Given the description of an element on the screen output the (x, y) to click on. 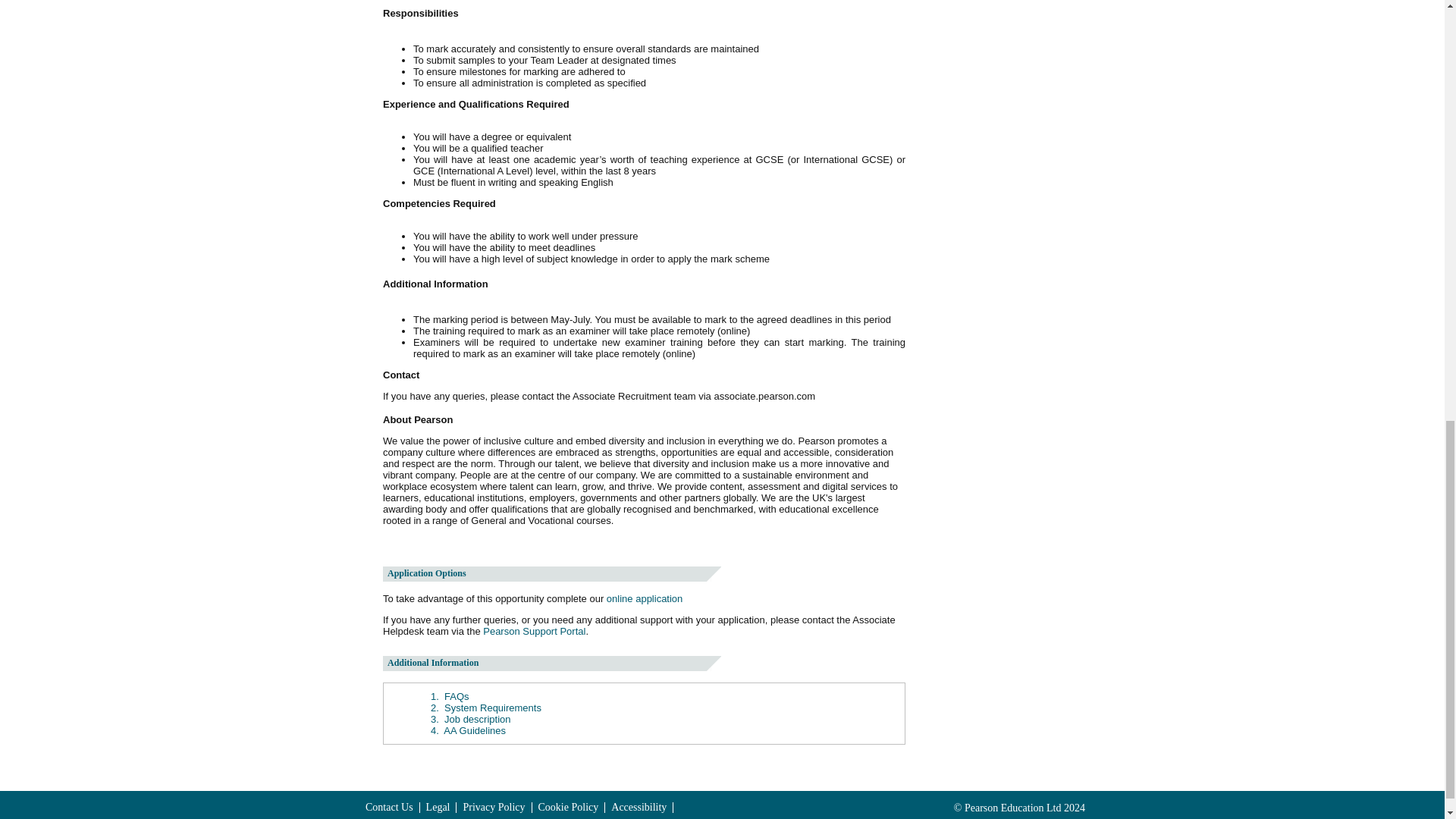
Legal (438, 807)
online application (644, 598)
Cookie Policy (568, 807)
4.  AA Guidelines (467, 730)
Privacy Policy (494, 807)
Accessibility (638, 807)
1.  FAQs (449, 696)
3.  Job description (470, 718)
Contact Us (389, 807)
2.  System Requirements (485, 707)
Pearson Support Portal (534, 631)
